Given the description of an element on the screen output the (x, y) to click on. 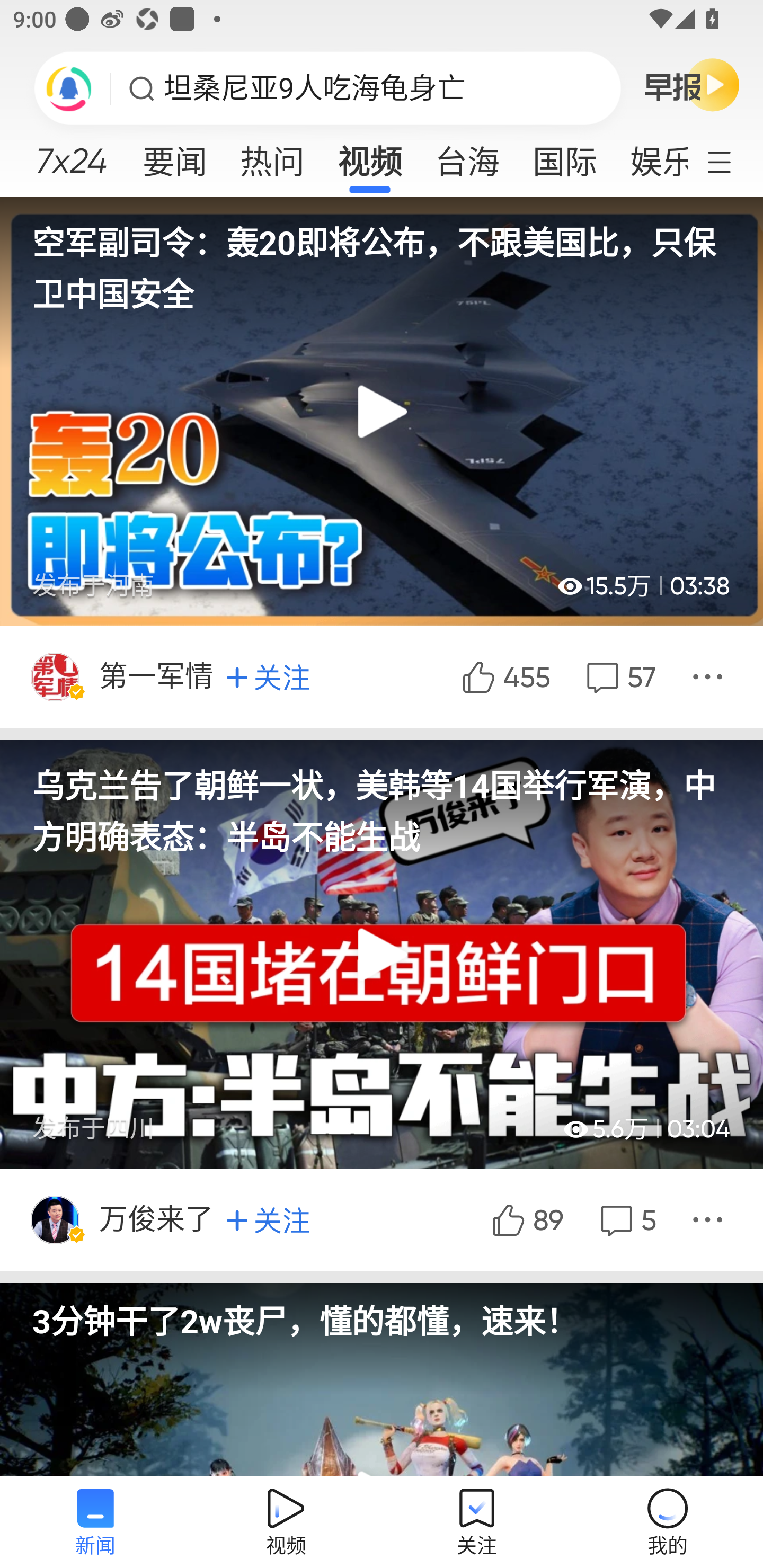
早晚报 (691, 84)
刷新 (68, 88)
坦桑尼亚9人吃海龟身亡 (314, 88)
7x24 (70, 154)
要闻 (174, 155)
热问 (272, 155)
视频 (369, 155)
台海 (466, 155)
国际 (564, 155)
娱乐 (650, 155)
 定制频道 (731, 160)
空军副司令：轰20即将公布，不跟美国比，只保卫中国安全 (381, 256)
455赞 (504, 676)
评论  57 (619, 676)
分享  (709, 676)
第一军情 (157, 676)
关注 (268, 677)
乌克兰告了朝鲜一状，美韩等14国举行军演，中方明确表态：半岛不能生战 (381, 799)
89赞 (525, 1219)
评论  5 (625, 1219)
分享  (709, 1219)
万俊来了 (157, 1219)
关注 (268, 1219)
3分钟干了2w丧尸，懂的都懂，速来！ (381, 1311)
